Given the description of an element on the screen output the (x, y) to click on. 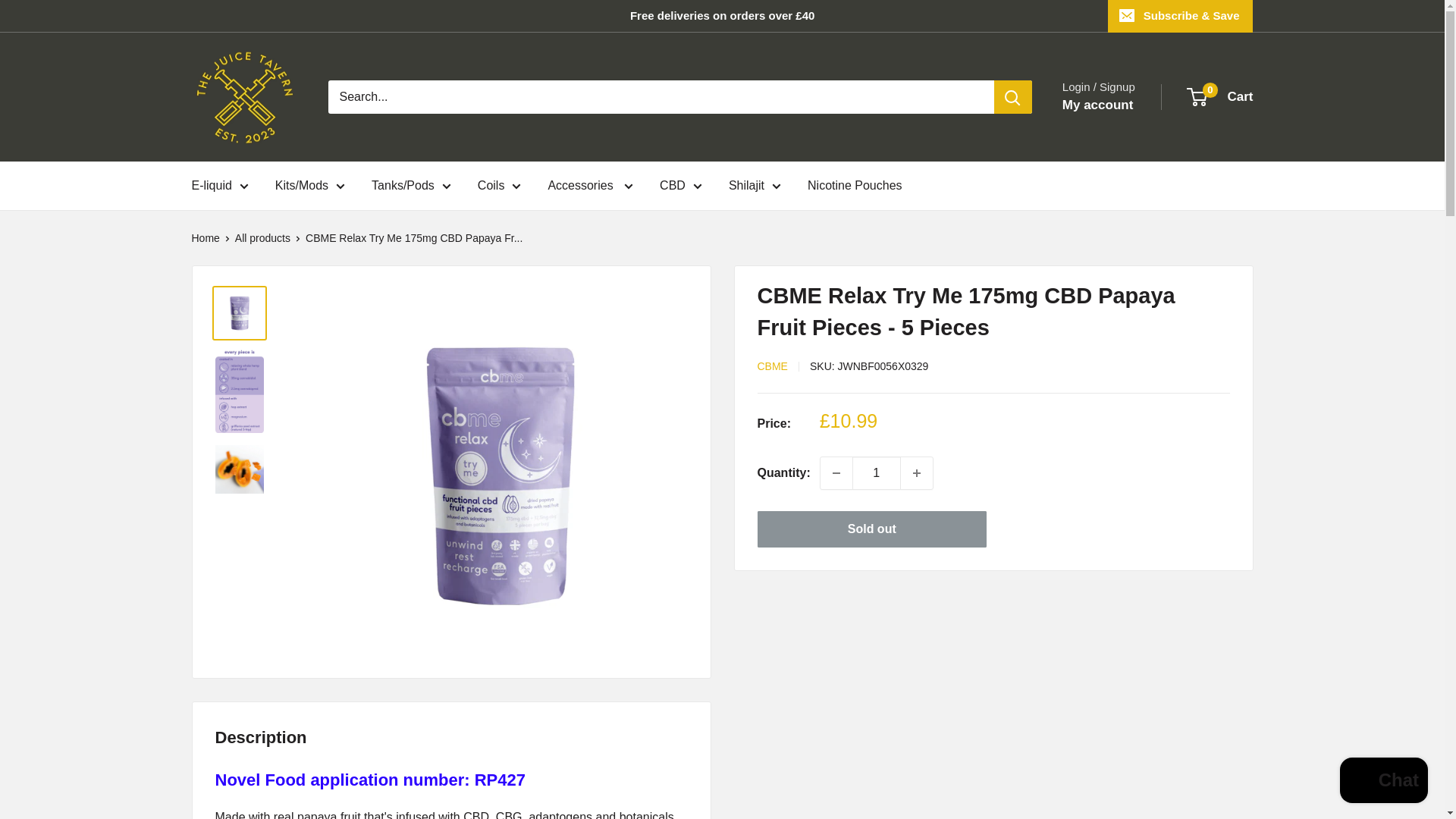
Decrease quantity by 1 (836, 472)
Increase quantity by 1 (917, 472)
1 (876, 472)
Shopify online store chat (1383, 781)
